Given the description of an element on the screen output the (x, y) to click on. 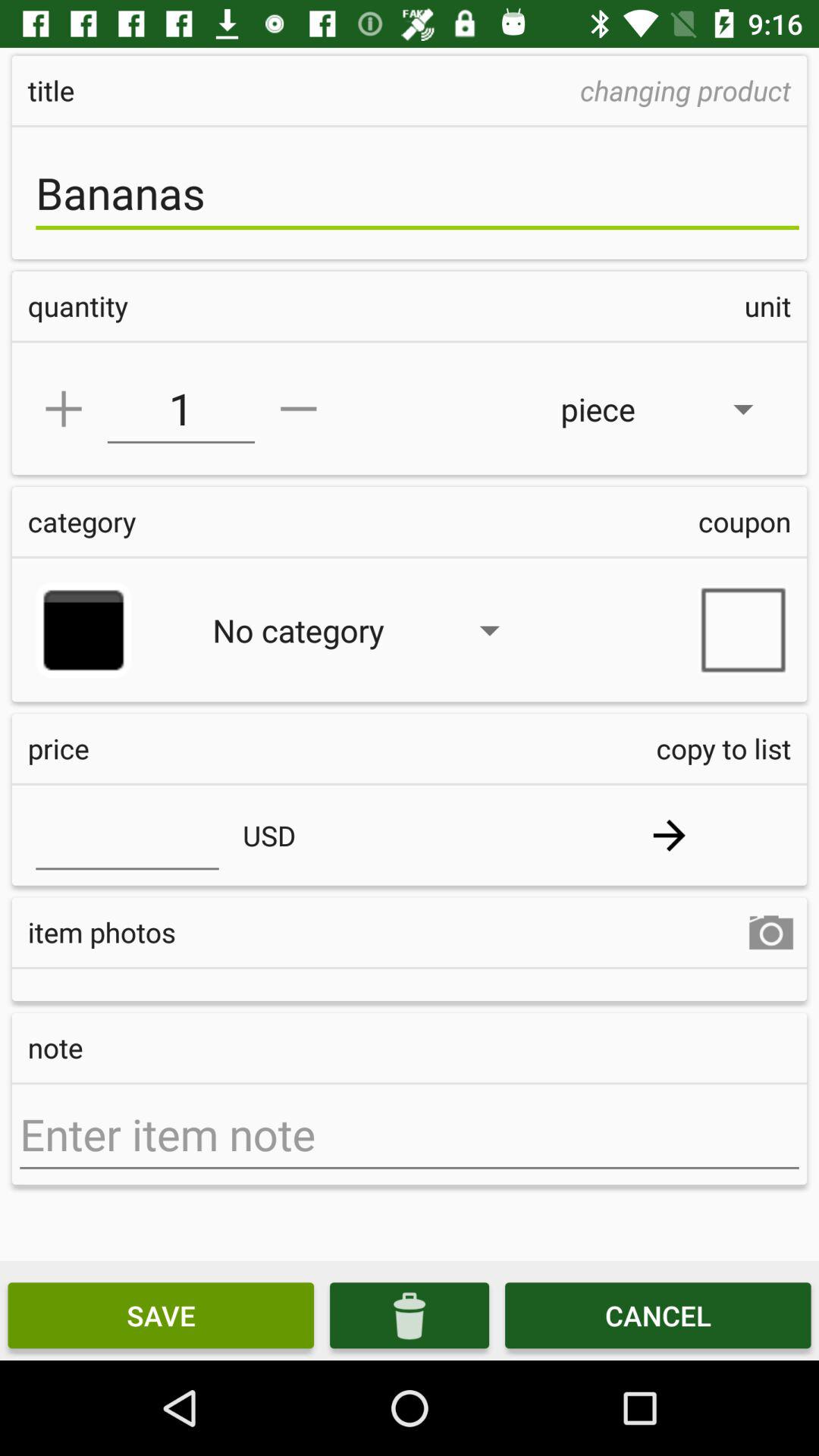
enter note (409, 1134)
